Given the description of an element on the screen output the (x, y) to click on. 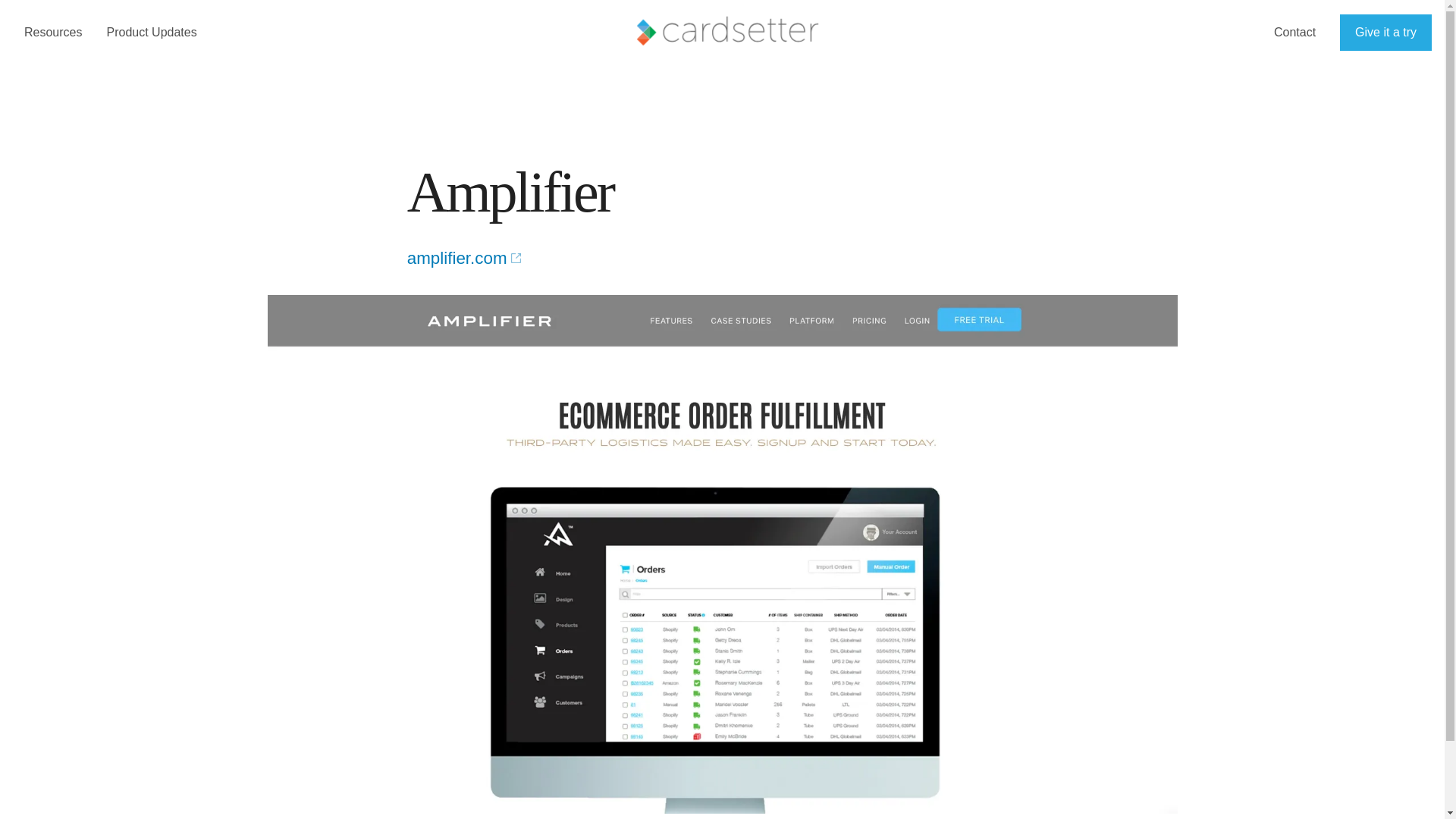
Resources (52, 31)
amplifier.com (466, 257)
Product Updates (151, 31)
Contact (1295, 31)
Give it a try (1385, 31)
